Given the description of an element on the screen output the (x, y) to click on. 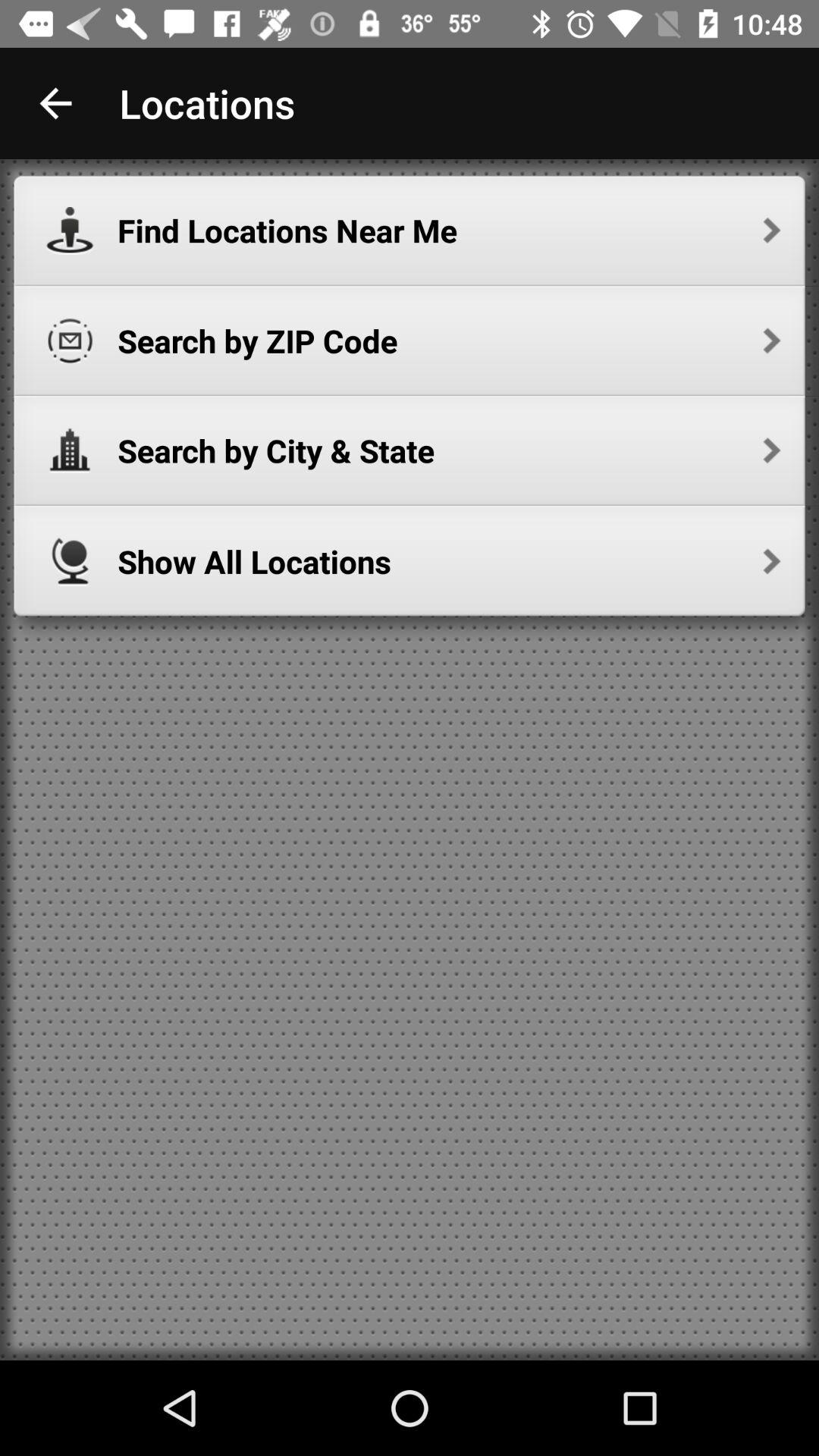
tap the icon next to the locations (55, 103)
